Given the description of an element on the screen output the (x, y) to click on. 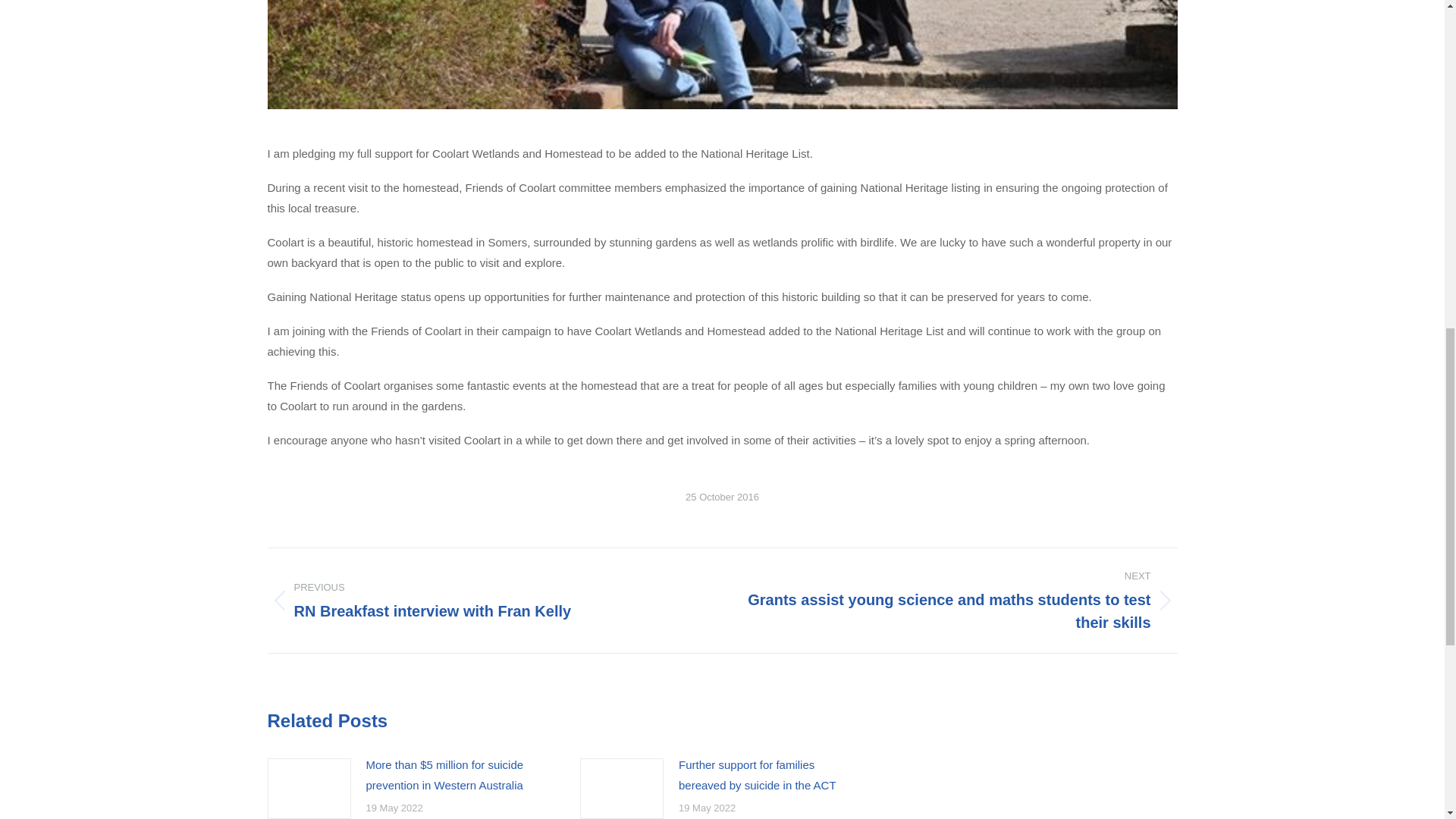
12:00 am (721, 497)
